Given the description of an element on the screen output the (x, y) to click on. 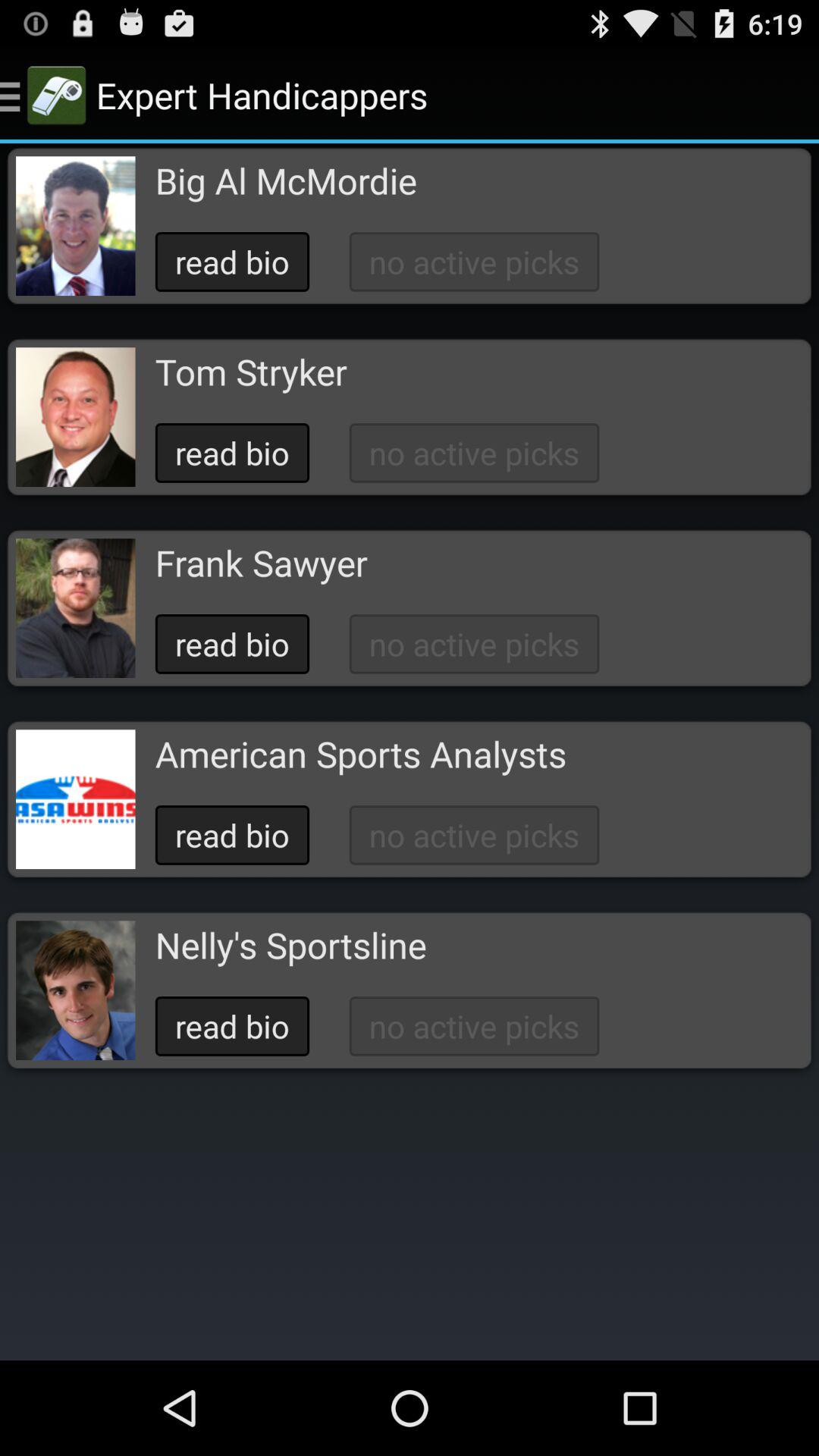
scroll to the frank sawyer (261, 562)
